Given the description of an element on the screen output the (x, y) to click on. 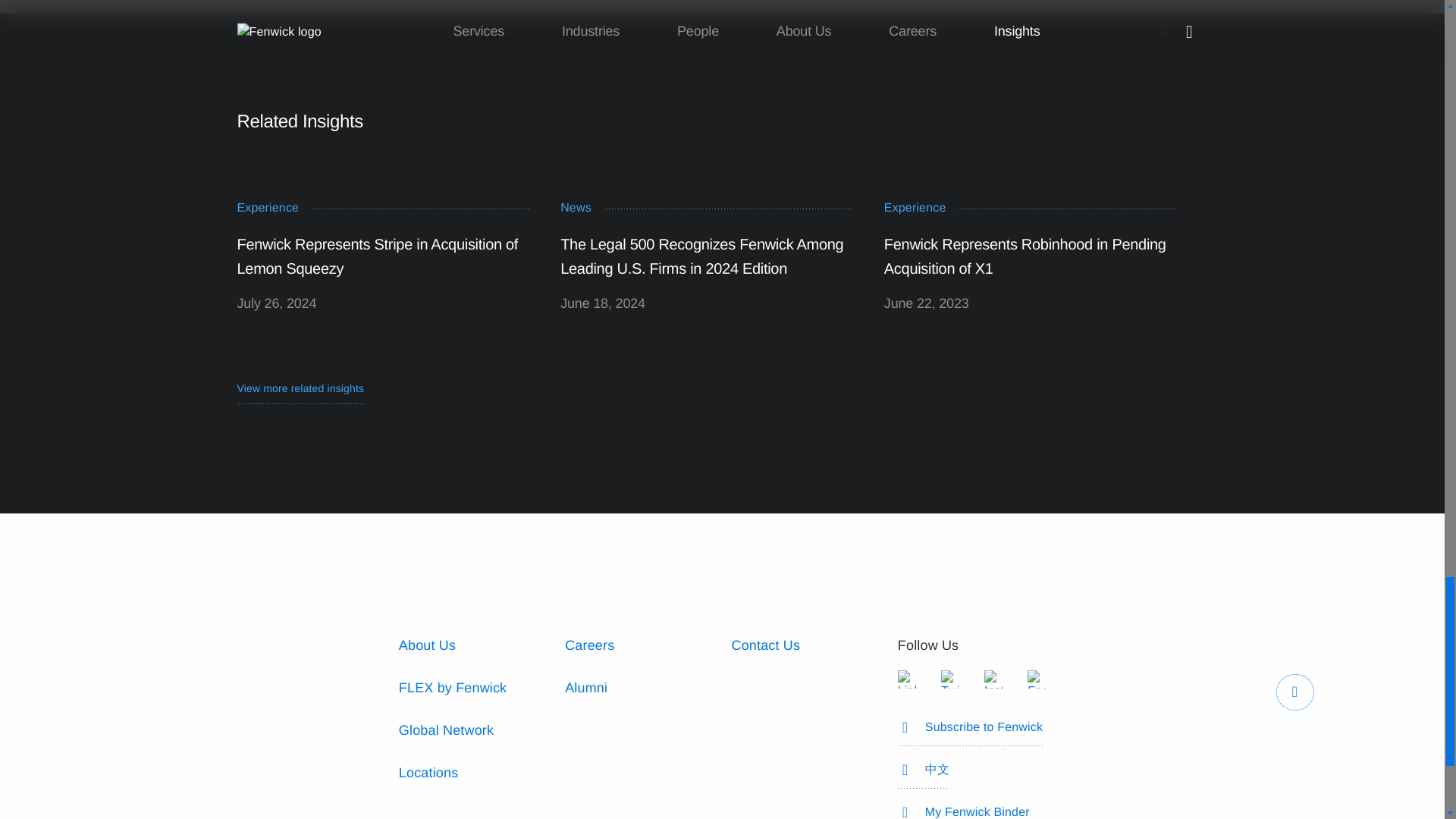
Contact Us (764, 645)
Careers (589, 645)
Global Network (445, 729)
About Us (426, 645)
Locations (428, 772)
FLEX by Fenwick (452, 687)
Alumni (585, 687)
